Given the description of an element on the screen output the (x, y) to click on. 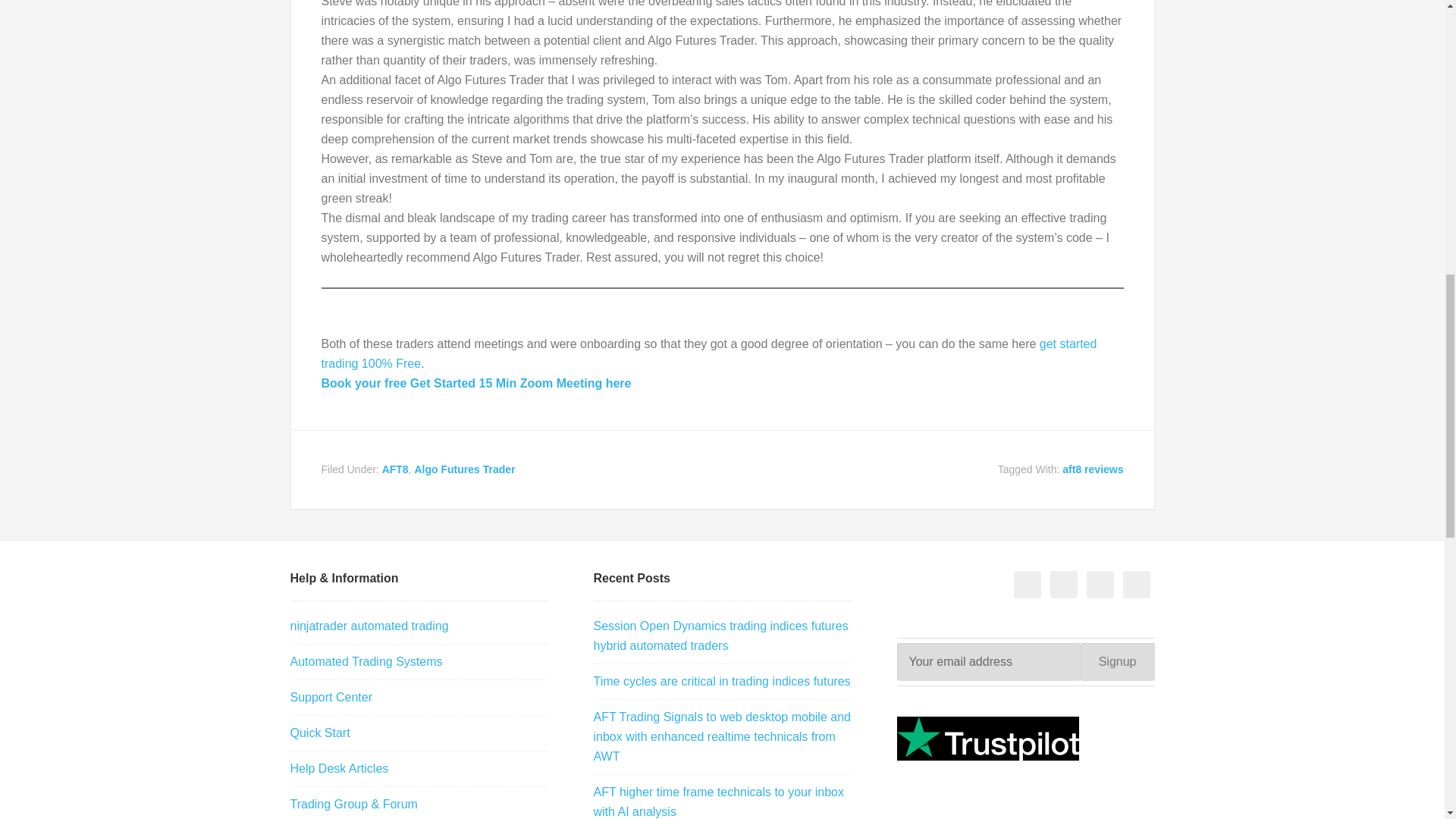
AFT8 (395, 469)
Book your free Get Started 15 Min Zoom Meeting here (476, 382)
AFT Reviews (987, 756)
Signup (1117, 661)
